Given the description of an element on the screen output the (x, y) to click on. 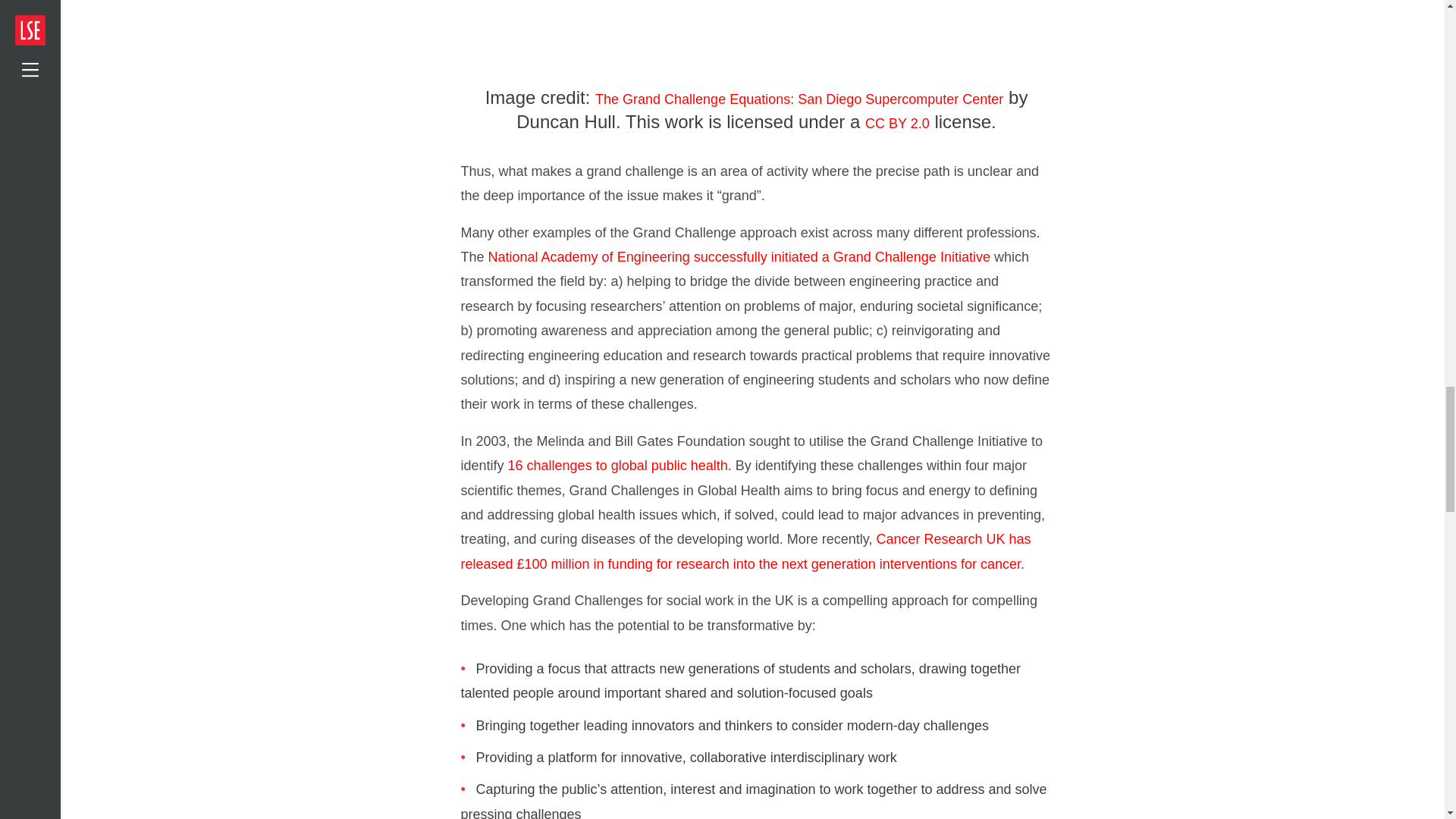
CC BY 2.0 (897, 123)
16 challenges to global public health (618, 465)
